Given the description of an element on the screen output the (x, y) to click on. 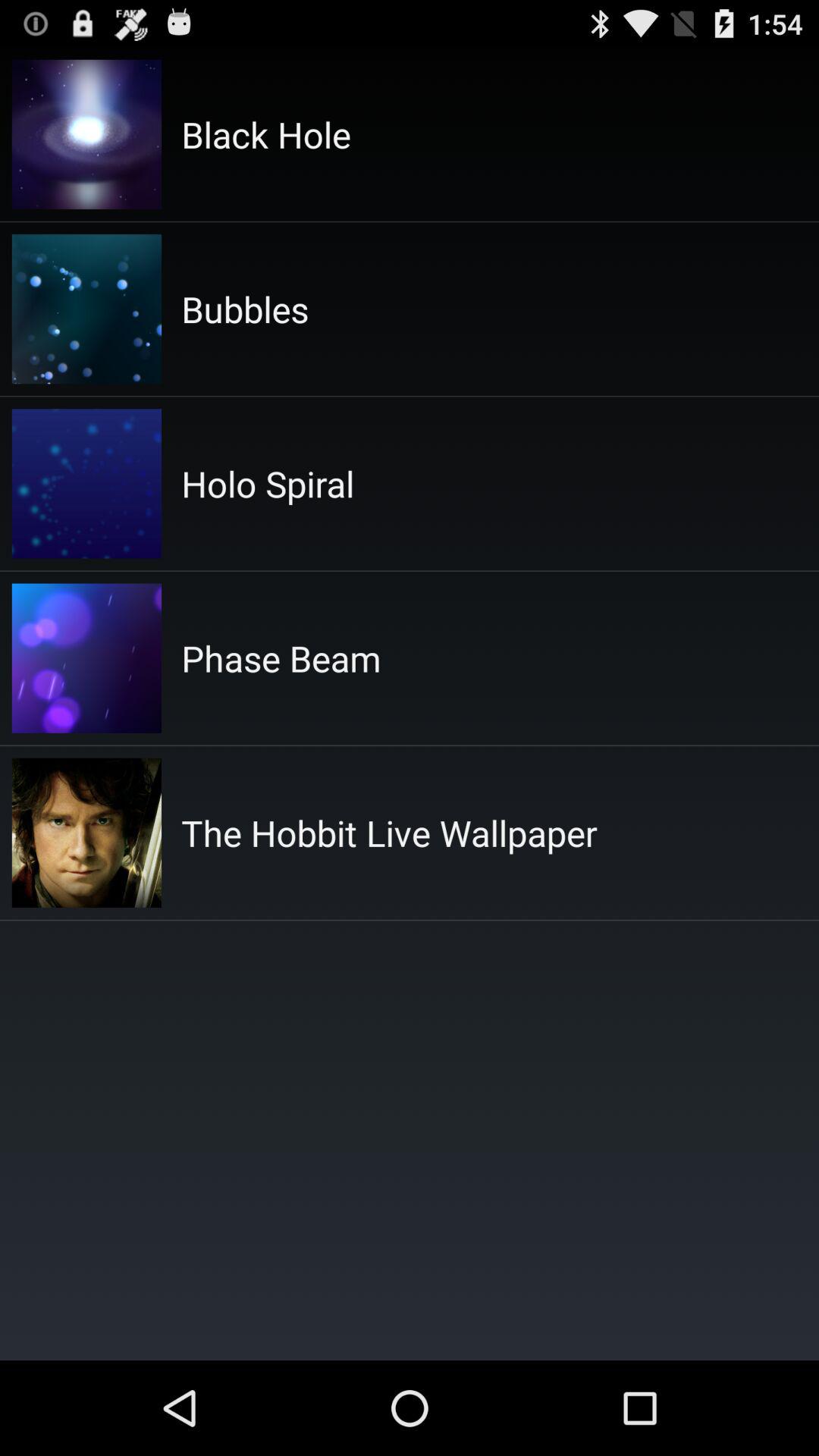
open item below the phase beam app (389, 832)
